Given the description of an element on the screen output the (x, y) to click on. 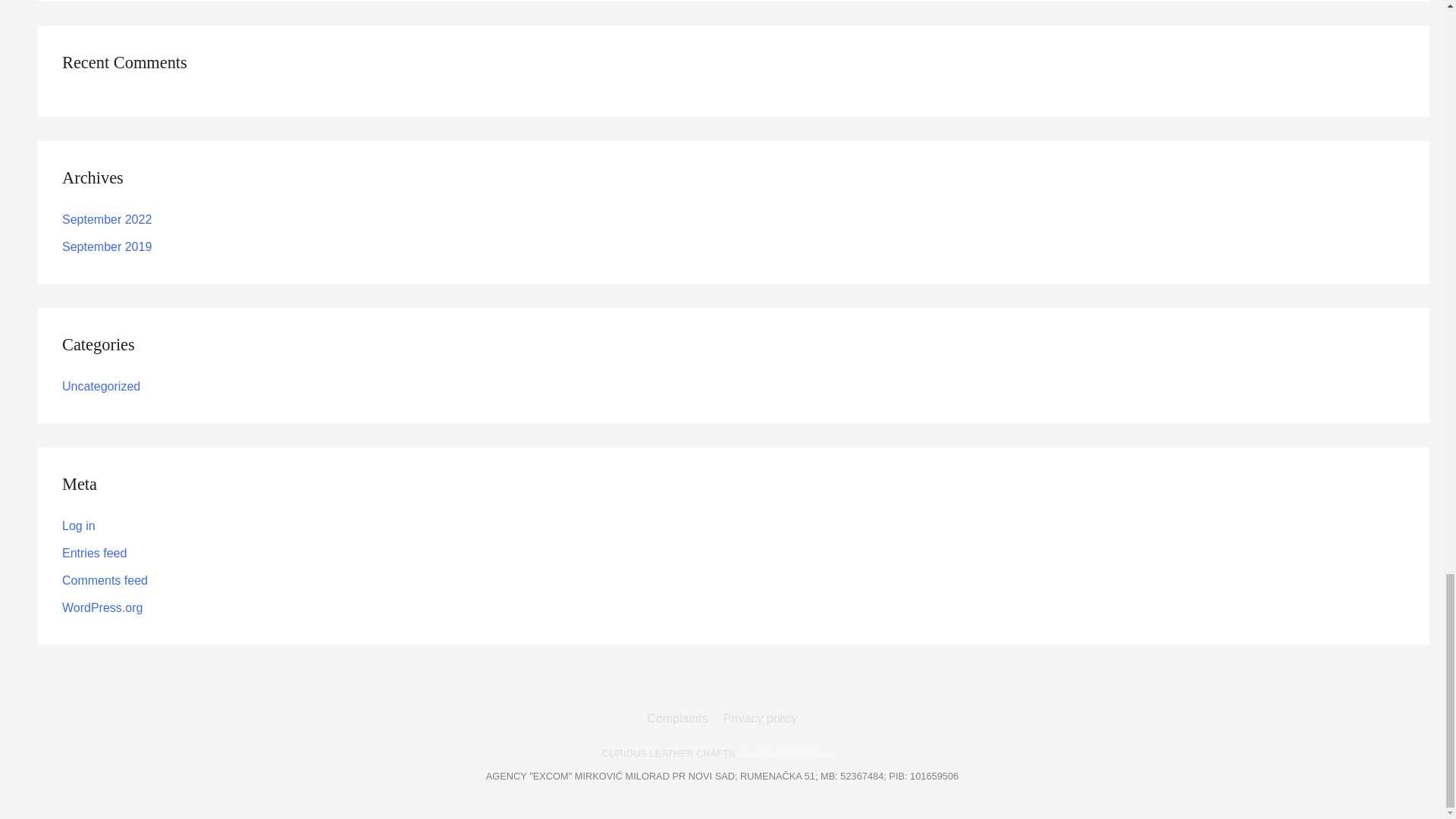
Log in (79, 525)
Privacy policy (757, 717)
Entries feed (94, 553)
September 2019 (106, 246)
Complaints (679, 717)
Uncategorized (100, 386)
WordPress.org (102, 607)
CURIOUS LEATHER CRAFTS (668, 753)
Comments feed (105, 580)
September 2022 (106, 219)
